Given the description of an element on the screen output the (x, y) to click on. 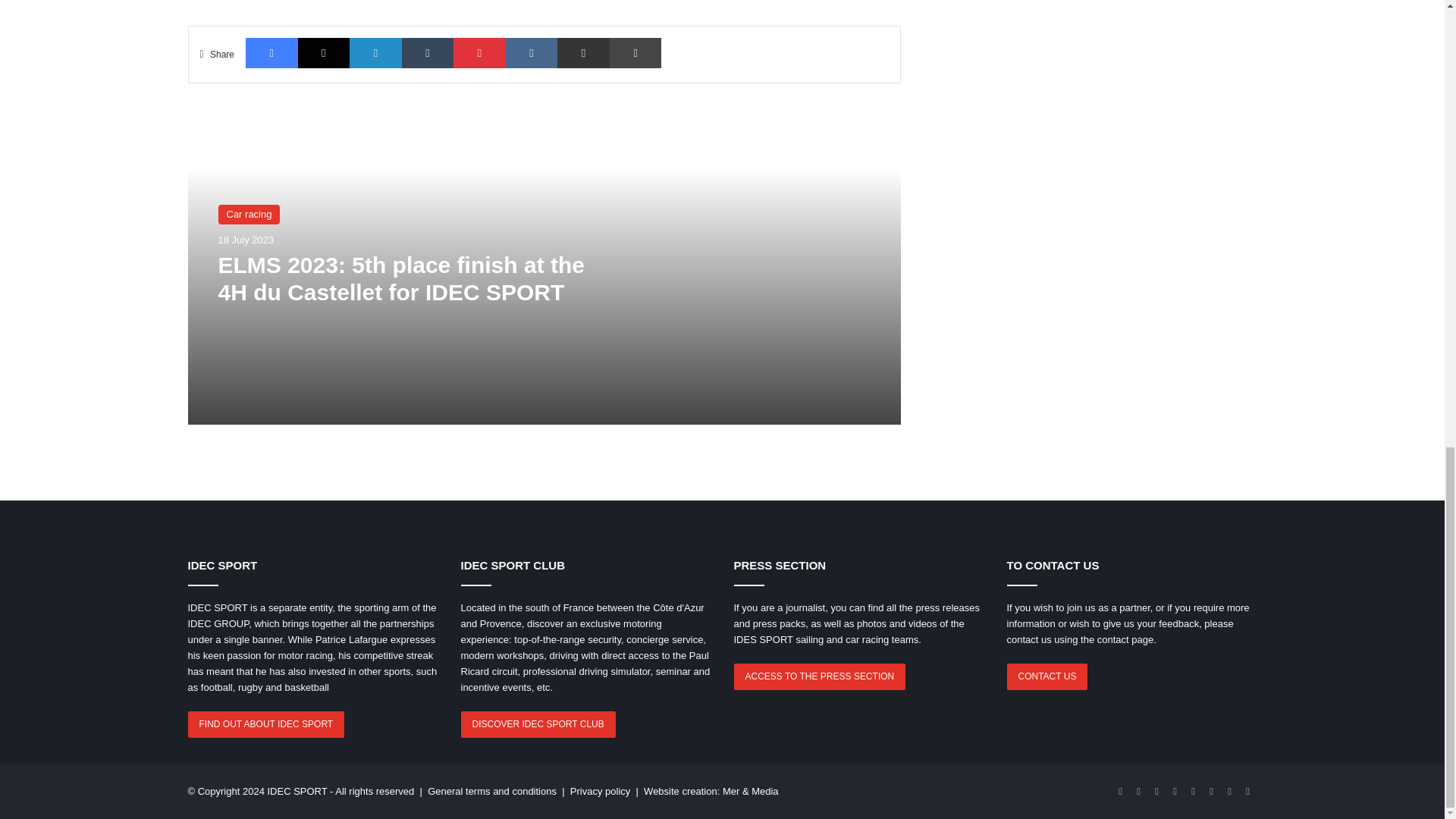
Tumblr (427, 52)
VKontakte (531, 52)
Share via Email (583, 52)
LinkedIn (375, 52)
Print (636, 52)
Facebook (272, 52)
X (324, 52)
Pinterest (478, 52)
